Given the description of an element on the screen output the (x, y) to click on. 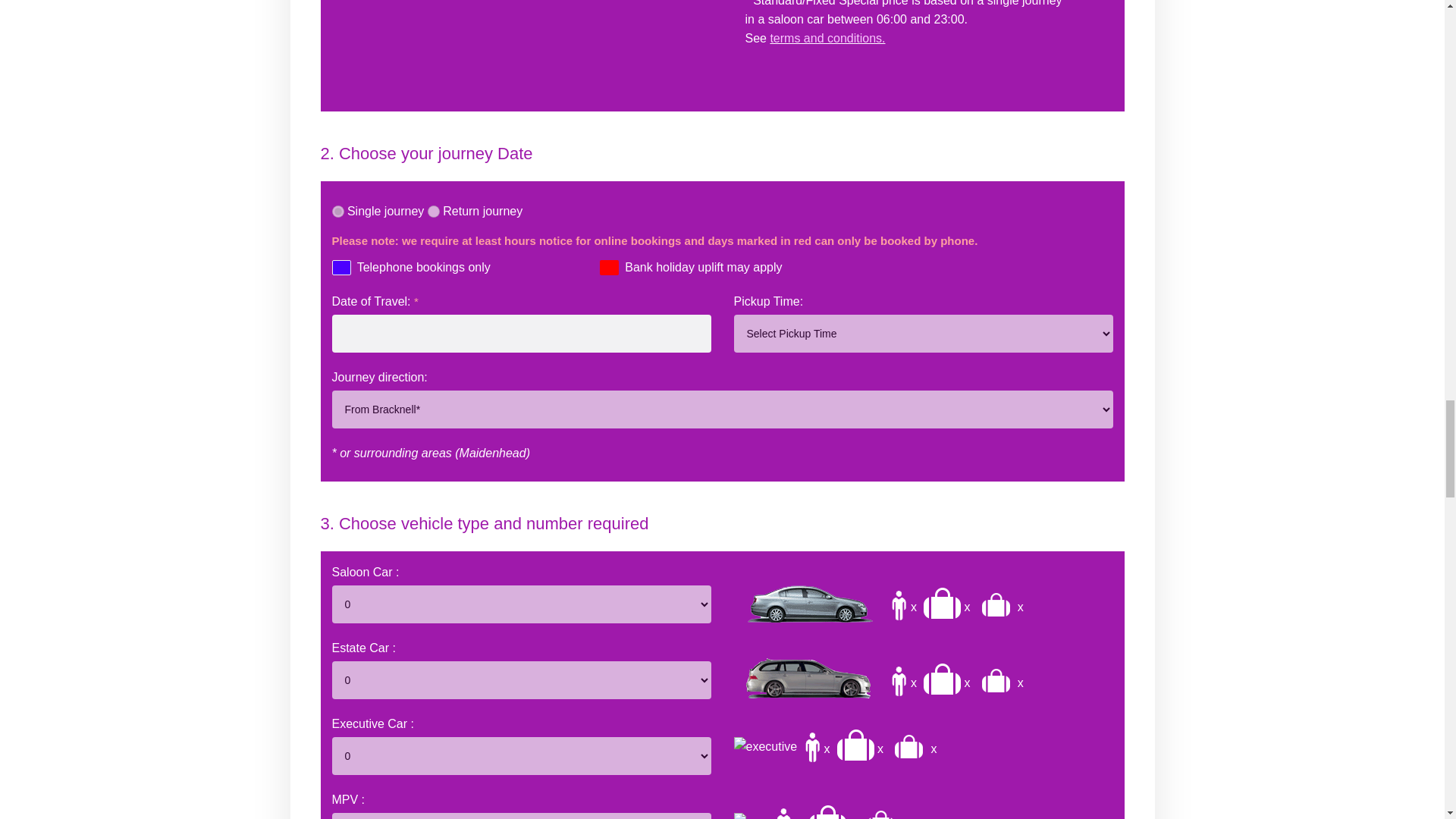
single (337, 211)
map (521, 47)
return (433, 211)
